Given the description of an element on the screen output the (x, y) to click on. 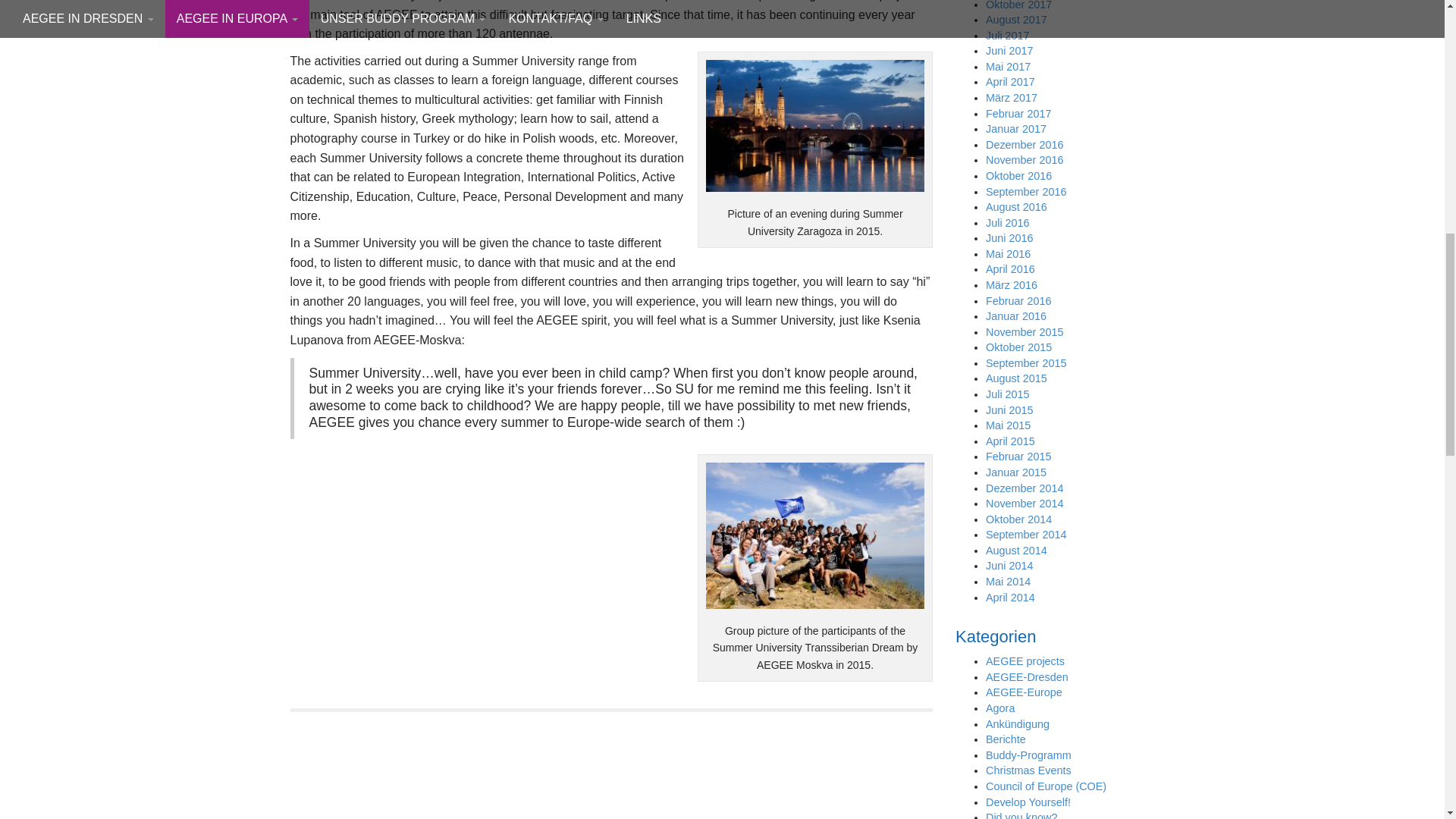
Juni 2017 (1008, 50)
Oktober 2017 (1018, 5)
August 2017 (1015, 19)
Juli 2017 (1007, 35)
